Given the description of an element on the screen output the (x, y) to click on. 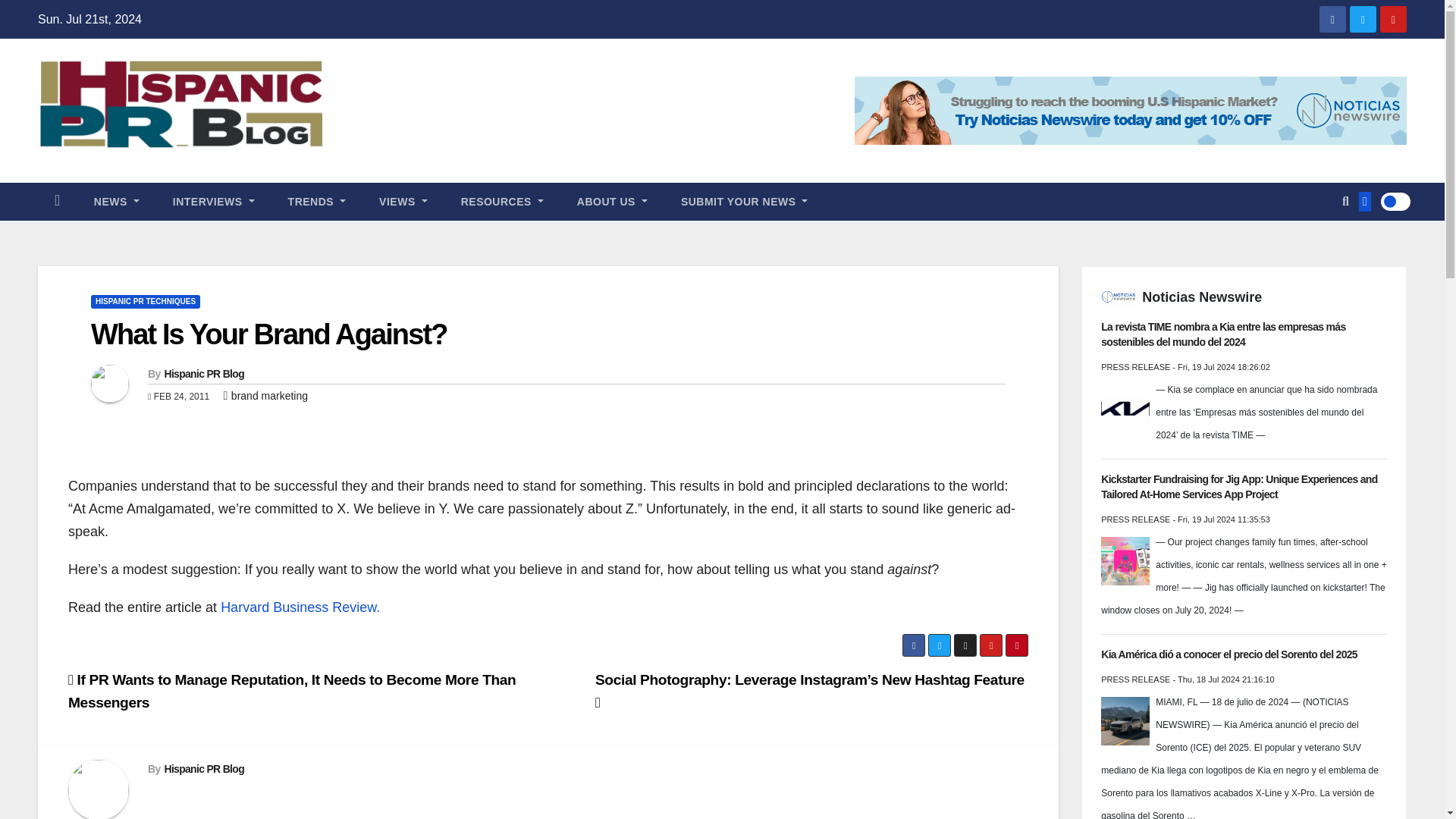
NEWS (116, 201)
RESOURCES (502, 201)
VIEWS (403, 201)
Trends (316, 201)
Interviews (212, 201)
Home (57, 201)
News (116, 201)
TRENDS (316, 201)
INTERVIEWS (212, 201)
Views (403, 201)
